Given the description of an element on the screen output the (x, y) to click on. 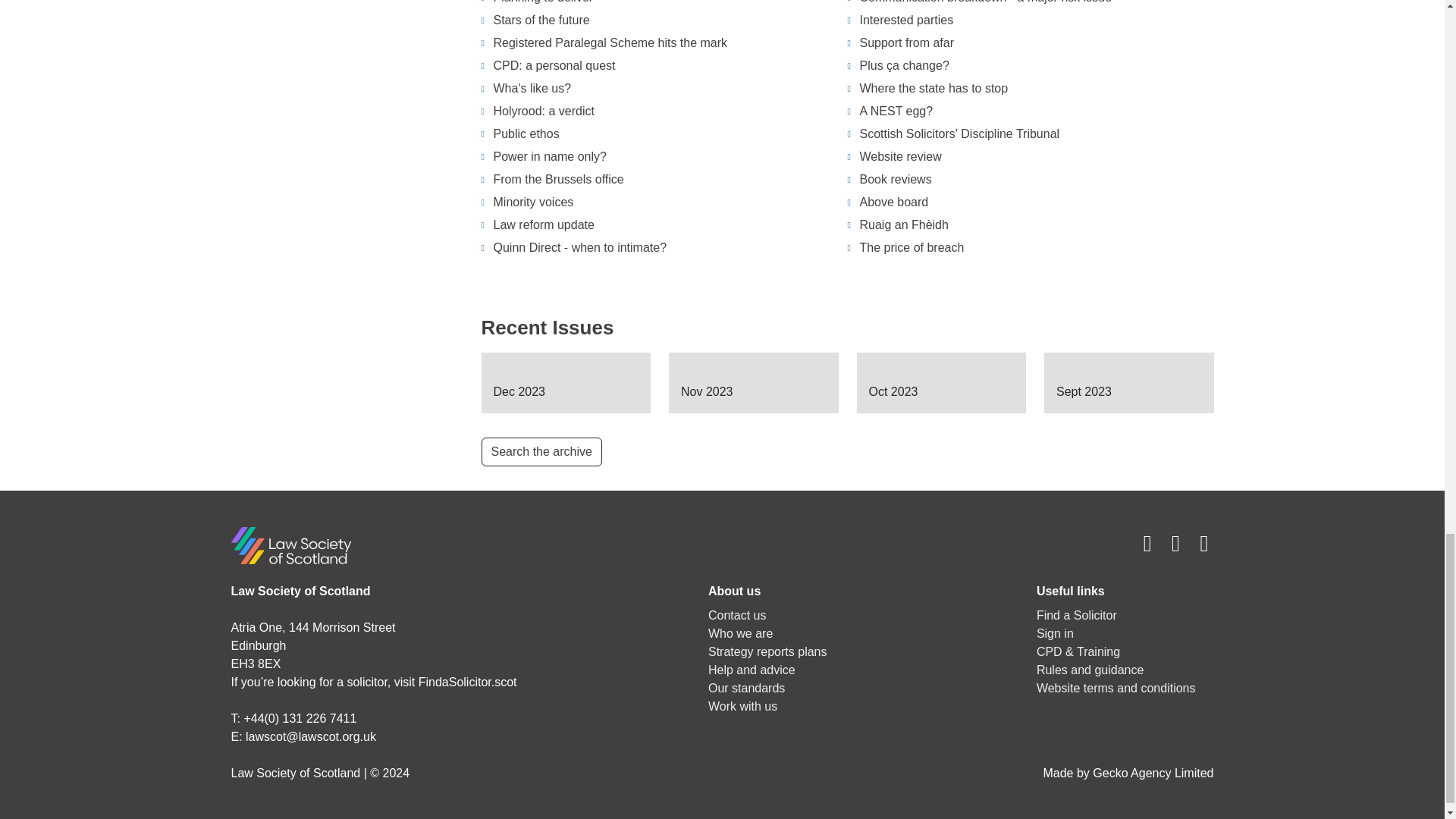
Twitter-x (1175, 543)
Home (290, 543)
Facebook (1147, 543)
LinkedIn (1204, 543)
